Given the description of an element on the screen output the (x, y) to click on. 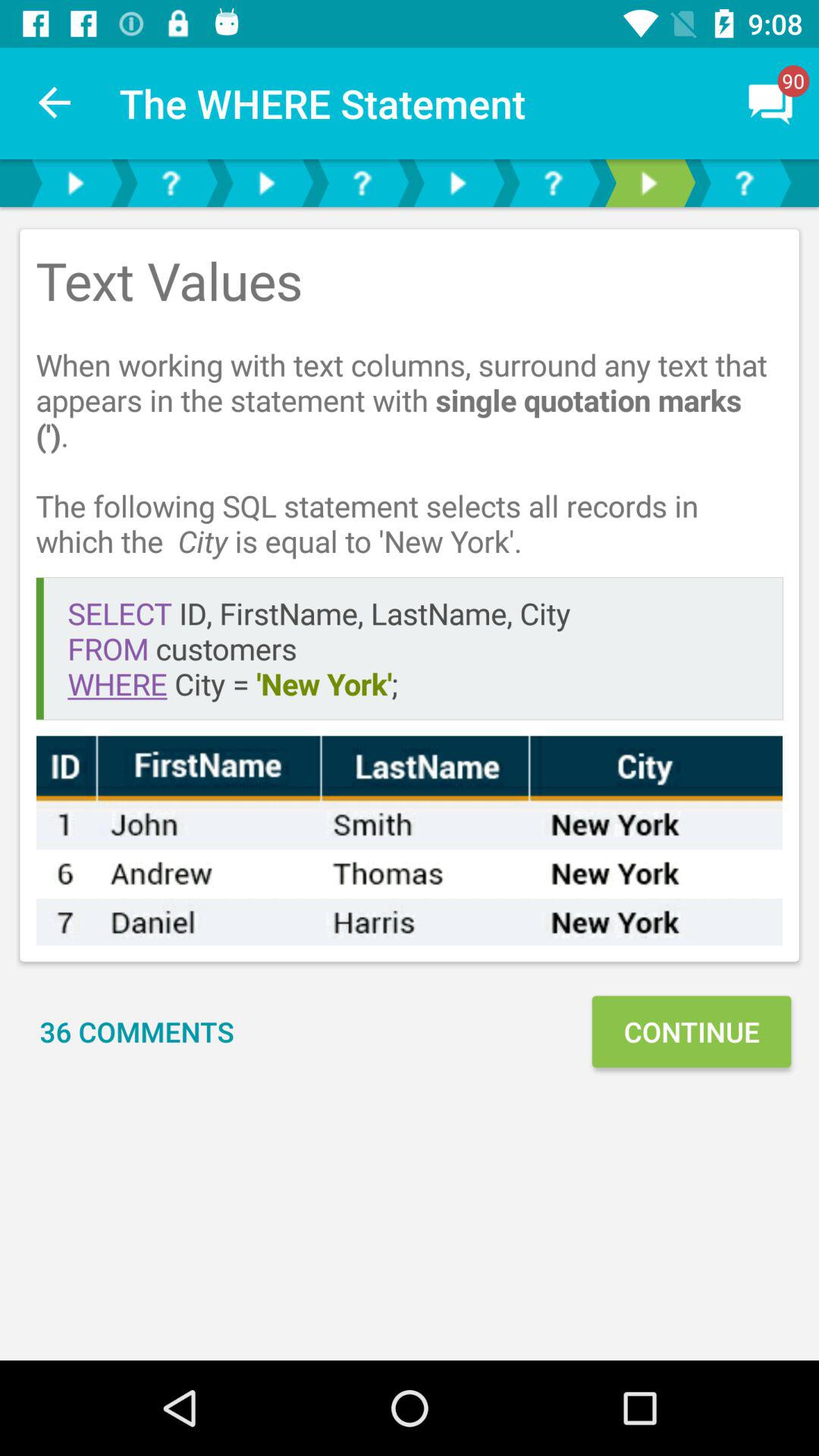
question mark or help (552, 183)
